Given the description of an element on the screen output the (x, y) to click on. 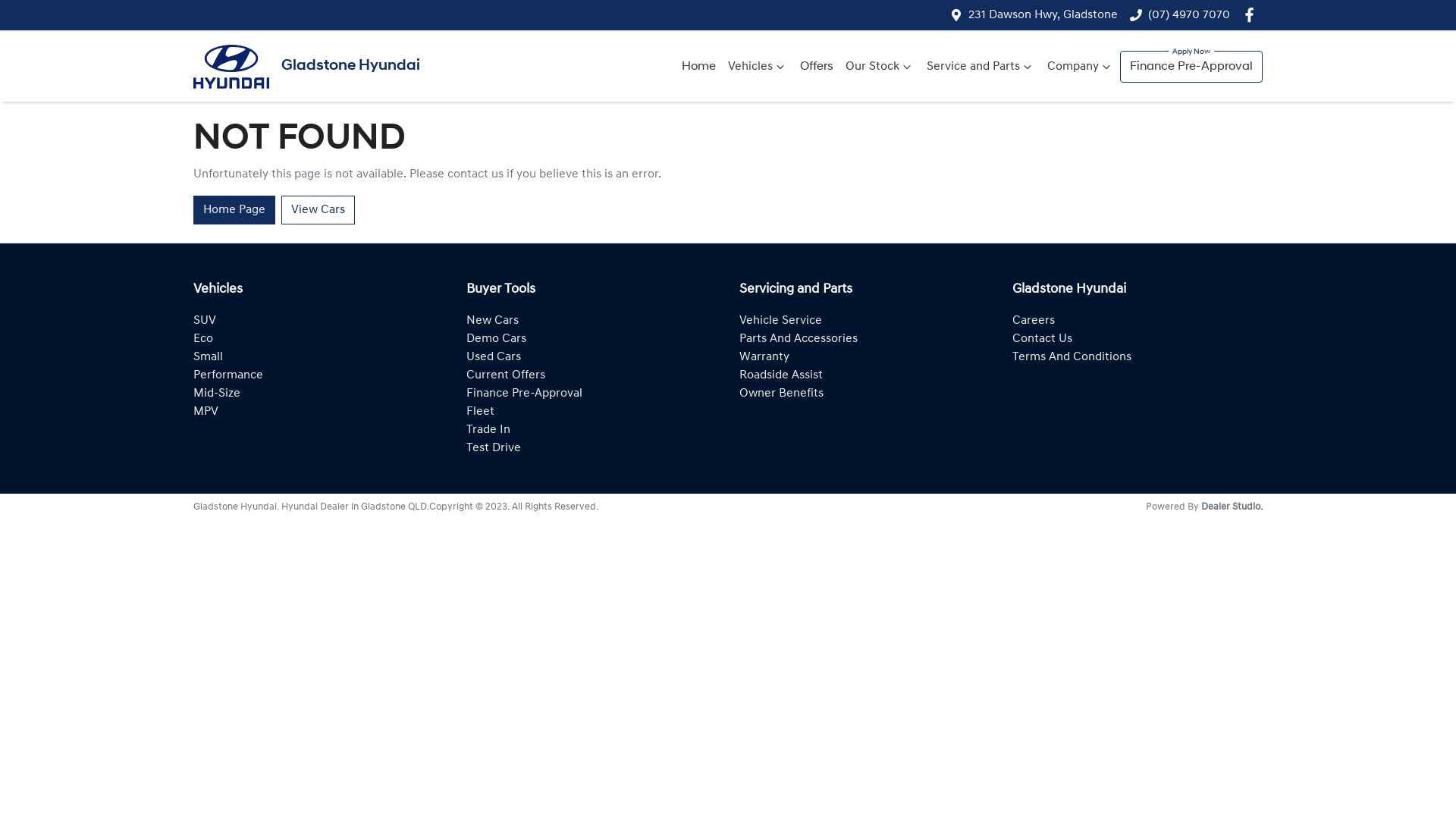
Contact Us Element type: text (1042, 338)
Fleet Element type: text (480, 411)
Finance Pre-Approval Element type: text (1191, 66)
Trade In Element type: text (488, 429)
Home Element type: text (698, 66)
Vehicle Service Element type: text (780, 320)
Finance Pre-Approval Element type: text (524, 393)
Current Offers Element type: text (505, 375)
Our Stock Element type: text (879, 66)
Gladstone Hyundai Element type: text (306, 66)
Terms And Conditions Element type: text (1071, 357)
SUV Element type: text (204, 320)
Eco Element type: text (203, 338)
New Cars Element type: text (492, 320)
Vehicles Element type: text (757, 66)
Warranty Element type: text (764, 357)
Test Drive Element type: text (493, 448)
231 Dawson Hwy, Gladstone Element type: text (1042, 15)
Small Element type: text (207, 357)
Performance Element type: text (228, 375)
MPV Element type: text (205, 411)
Service and Parts Element type: text (980, 66)
Used Cars Element type: text (493, 357)
Dealer Studio. Element type: text (1231, 506)
Mid-Size Element type: text (216, 393)
Roadside Assist Element type: text (780, 375)
Home Page Element type: text (234, 209)
View Cars Element type: text (317, 209)
Parts And Accessories Element type: text (798, 338)
Company Element type: text (1080, 66)
(07) 4970 7070 Element type: text (1189, 15)
Offers Element type: text (816, 66)
Demo Cars Element type: text (496, 338)
Careers Element type: text (1033, 320)
Owner Benefits Element type: text (781, 393)
